Given the description of an element on the screen output the (x, y) to click on. 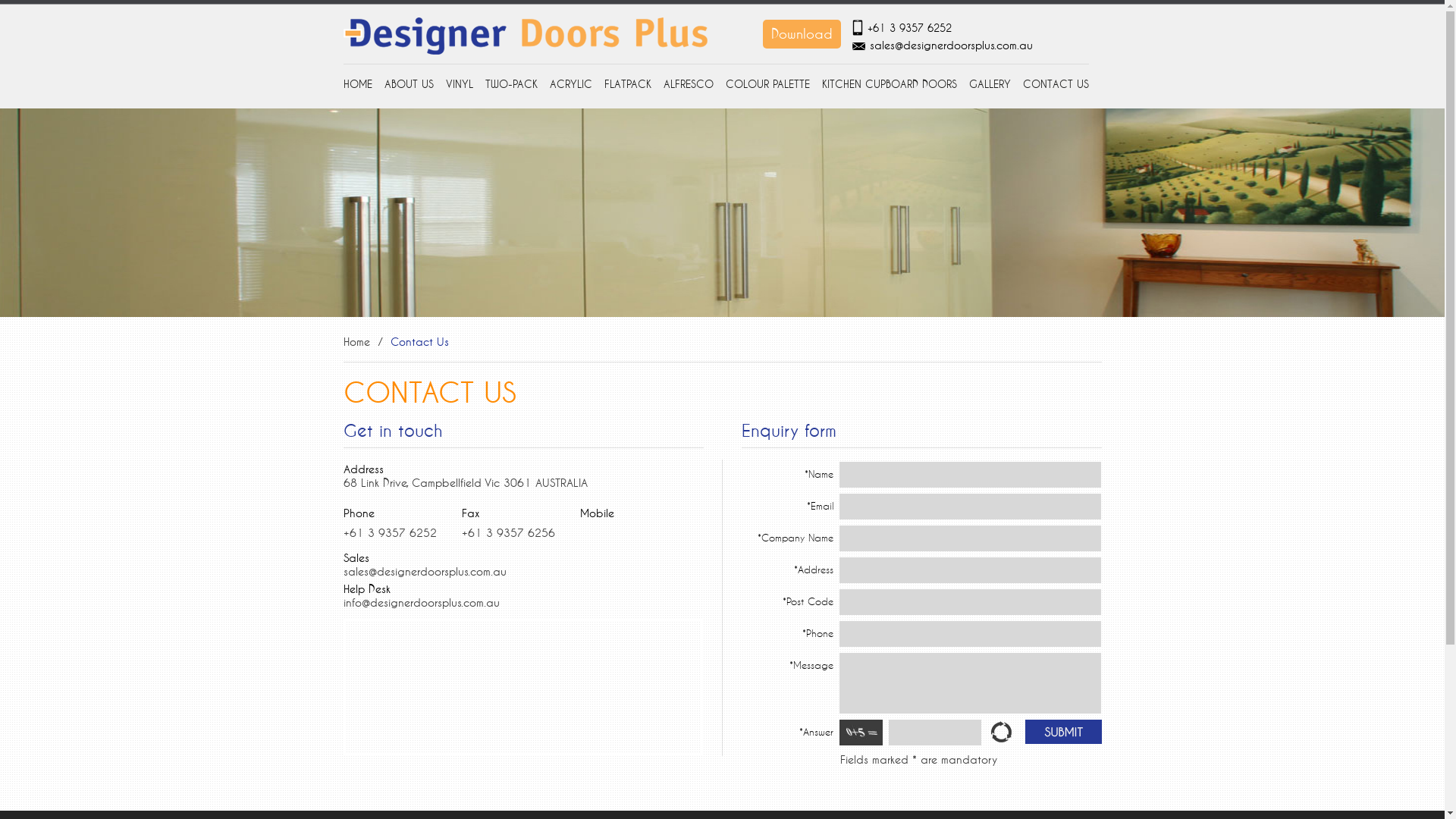
Submit Element type: hover (1063, 731)
sales@designerdoorsplus.com.au Element type: text (423, 570)
KITCHEN CUPBOARD DOORS Element type: text (889, 83)
Download Element type: text (800, 33)
CONTACT US Element type: text (1052, 83)
ABOUT US Element type: text (408, 83)
GALLERY Element type: text (989, 83)
info@designerdoorsplus.com.au Element type: text (420, 602)
HOME Element type: text (359, 83)
VINYL Element type: text (459, 83)
ACRYLIC Element type: text (569, 83)
TWO-PACK Element type: text (511, 83)
COLOUR PALETTE Element type: text (766, 83)
ALFRESCO Element type: text (687, 83)
sales@designerdoorsplus.com.au Element type: text (950, 44)
+61 3 9357 6252 Element type: text (389, 532)
+61 3 9357 6256 Element type: text (507, 532)
Designer Doors Plus Element type: hover (524, 50)
+61 3 9357 6252 Element type: text (909, 27)
Home Element type: text (355, 341)
FLATPACK Element type: text (626, 83)
Designer Doors Plus Element type: hover (524, 35)
